Given the description of an element on the screen output the (x, y) to click on. 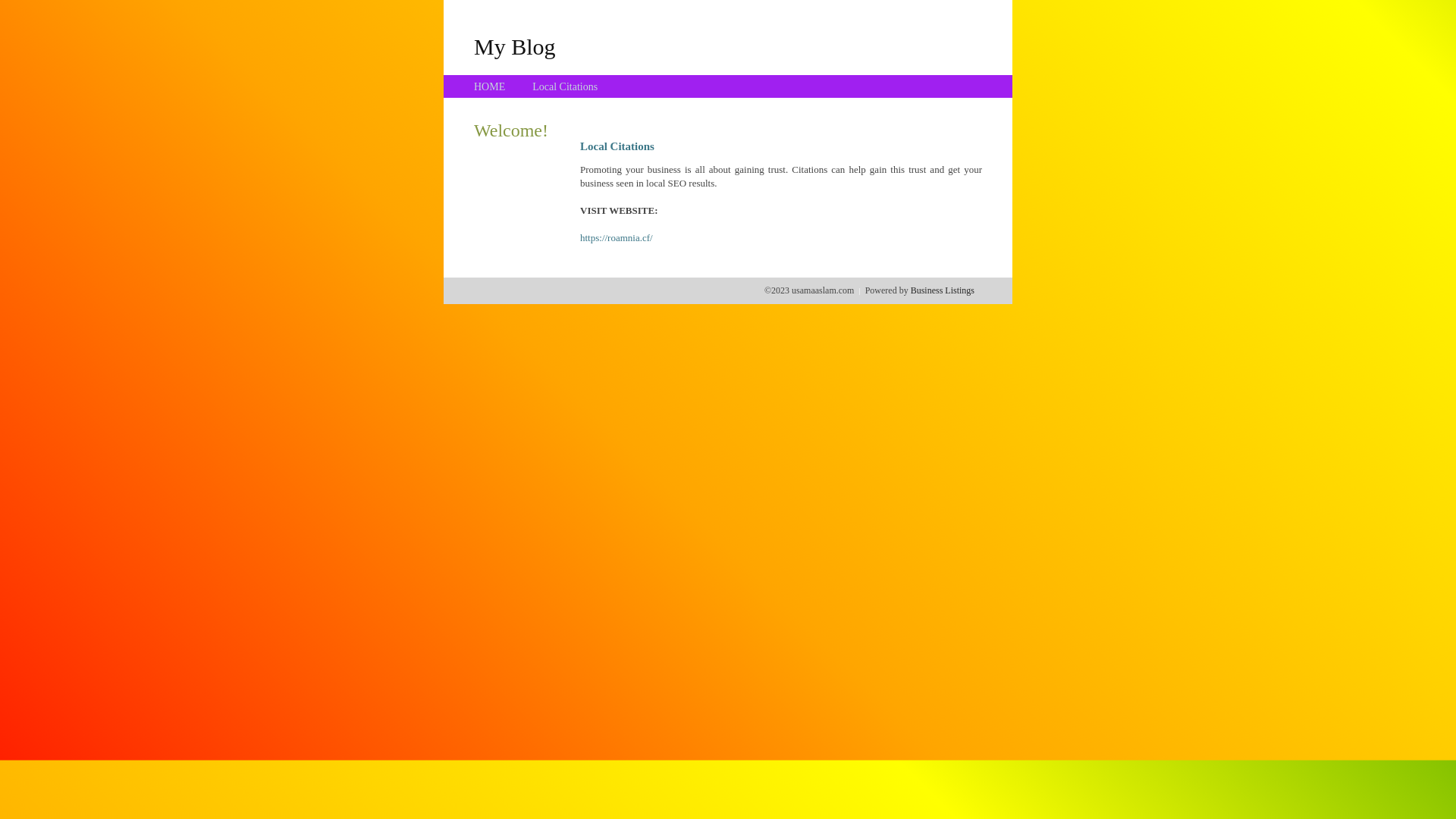
My Blog Element type: text (514, 46)
HOME Element type: text (489, 86)
https://roamnia.cf/ Element type: text (616, 237)
Business Listings Element type: text (942, 290)
Local Citations Element type: text (564, 86)
